Given the description of an element on the screen output the (x, y) to click on. 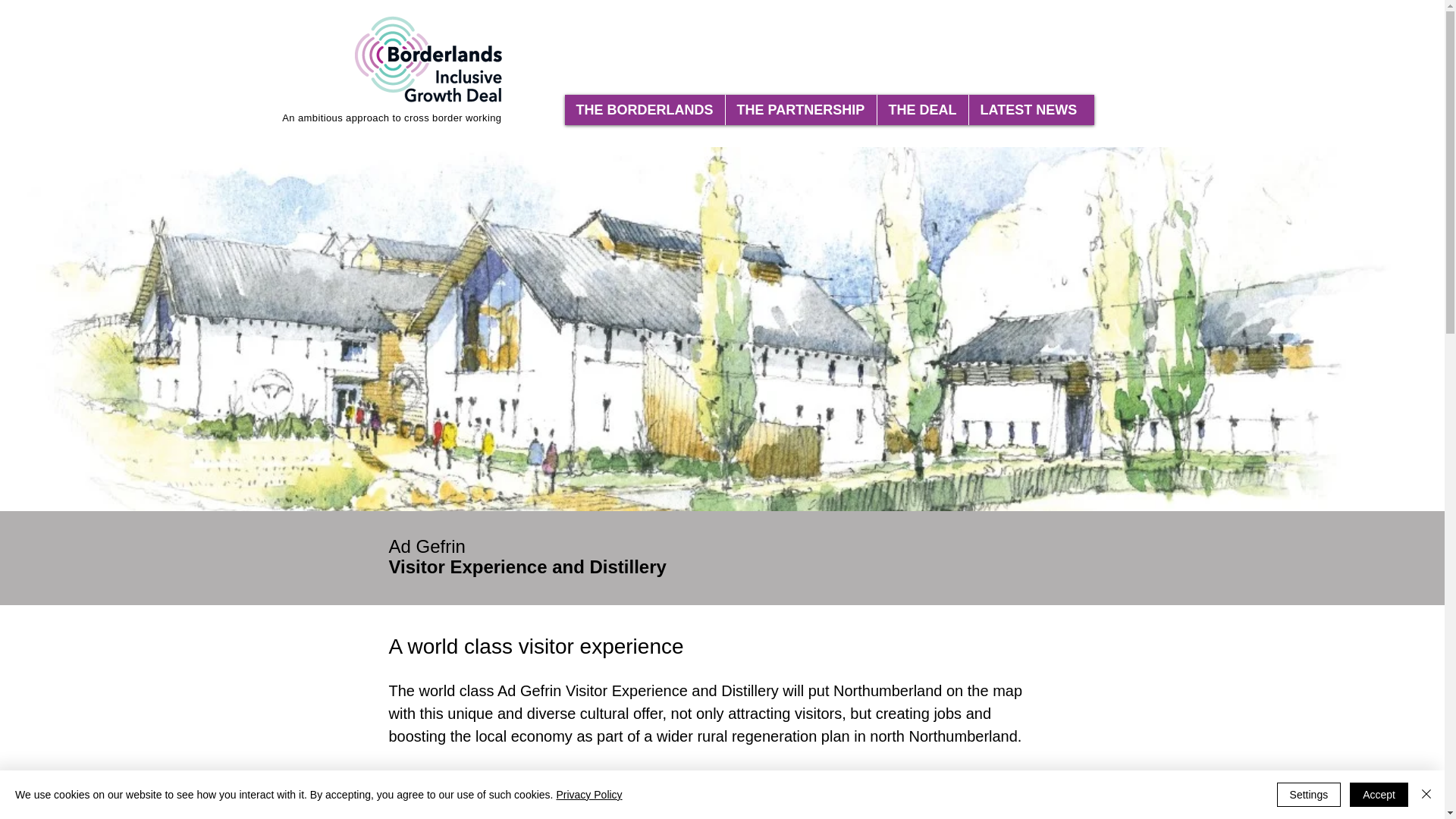
THE PARTNERSHIP (800, 110)
LATEST NEWS (1027, 110)
Settings (1308, 794)
Accept (1378, 794)
Privacy Policy (588, 794)
THE DEAL (922, 110)
THE BORDERLANDS (643, 110)
